Given the description of an element on the screen output the (x, y) to click on. 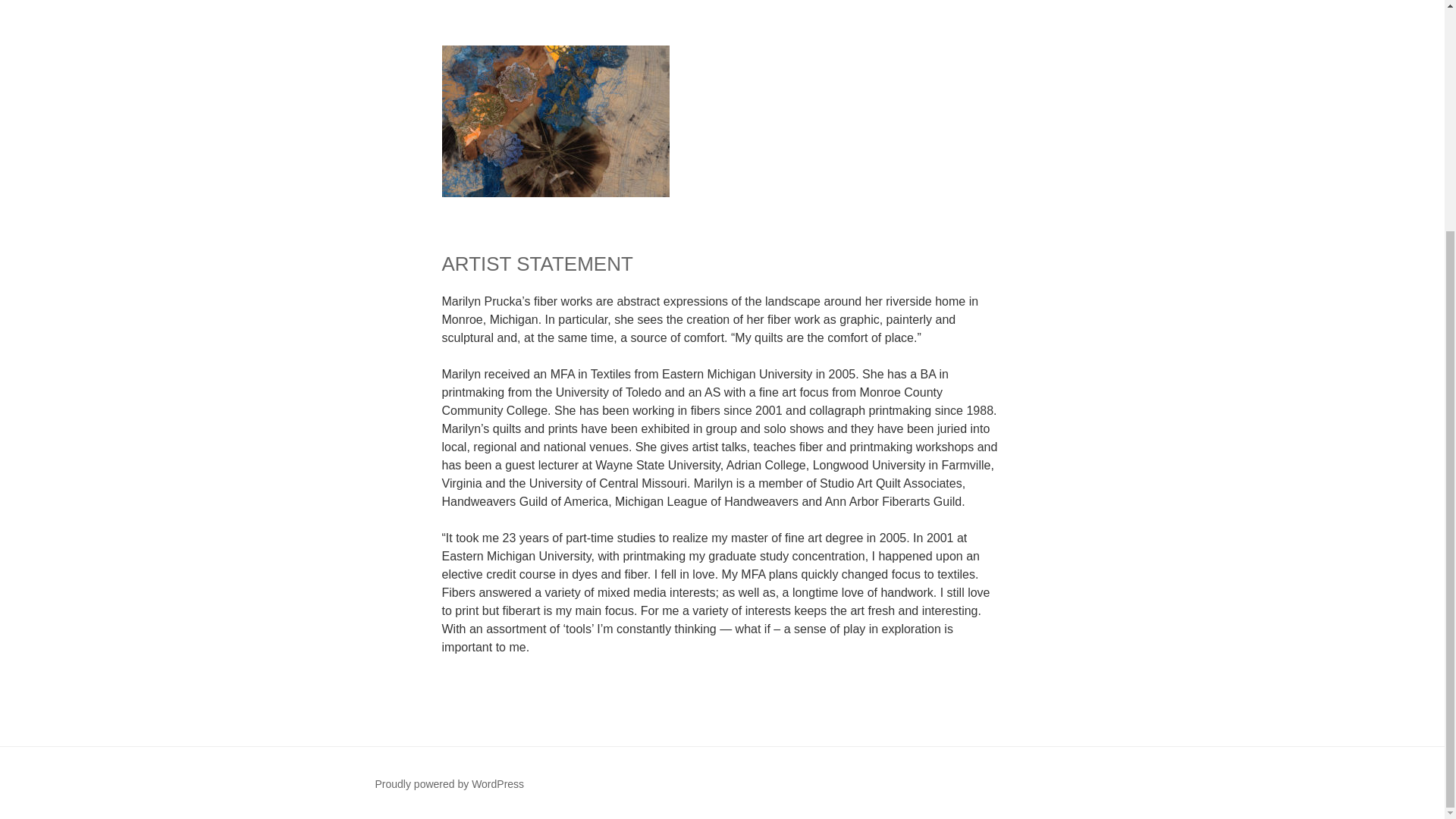
Proudly powered by WordPress (449, 784)
